Given the description of an element on the screen output the (x, y) to click on. 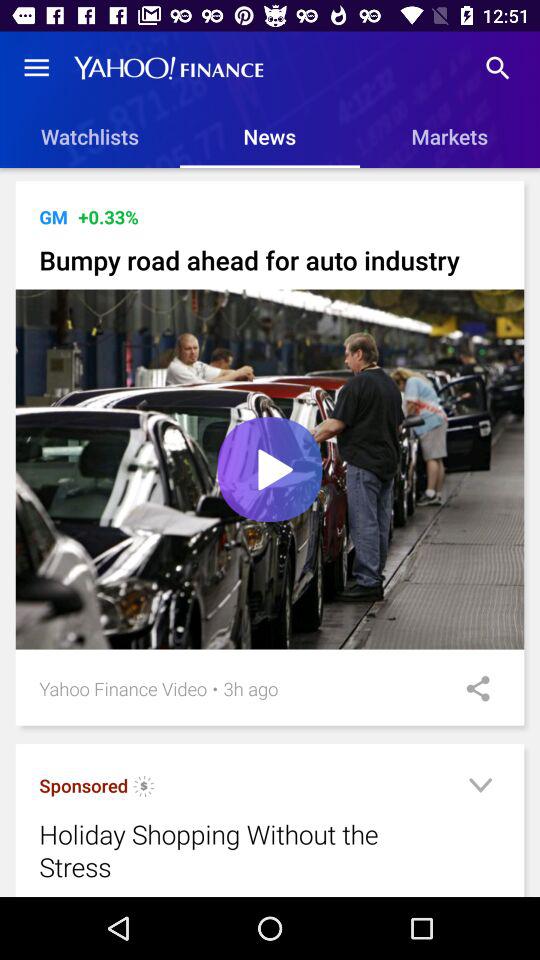
scroll until the 3h ago (250, 688)
